Given the description of an element on the screen output the (x, y) to click on. 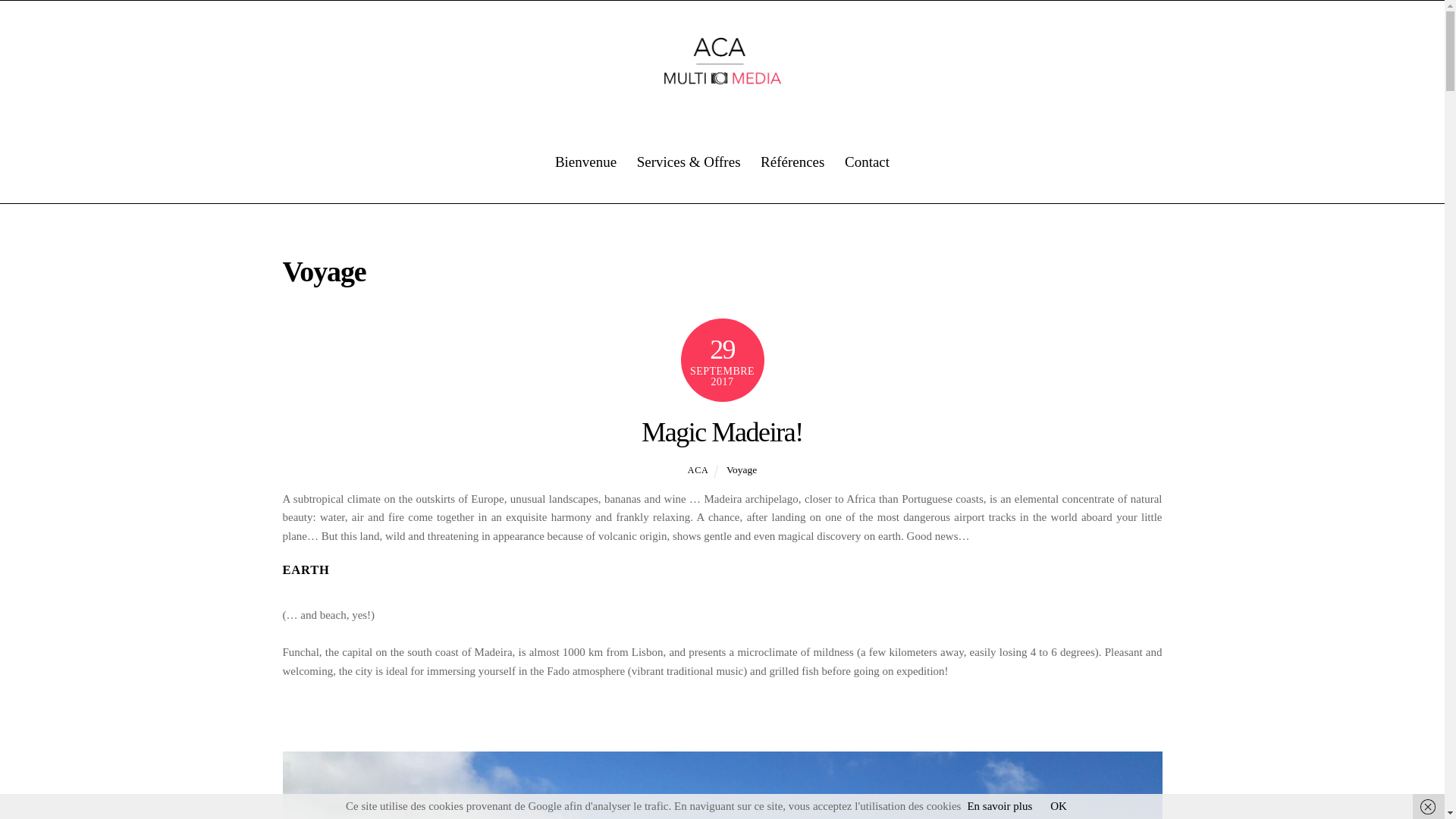
Bienvenue (585, 162)
Magic Madeira! (722, 431)
OK (1058, 806)
ACA (697, 470)
Contact (866, 162)
En savoir plus (999, 806)
Voyage (741, 469)
